Given the description of an element on the screen output the (x, y) to click on. 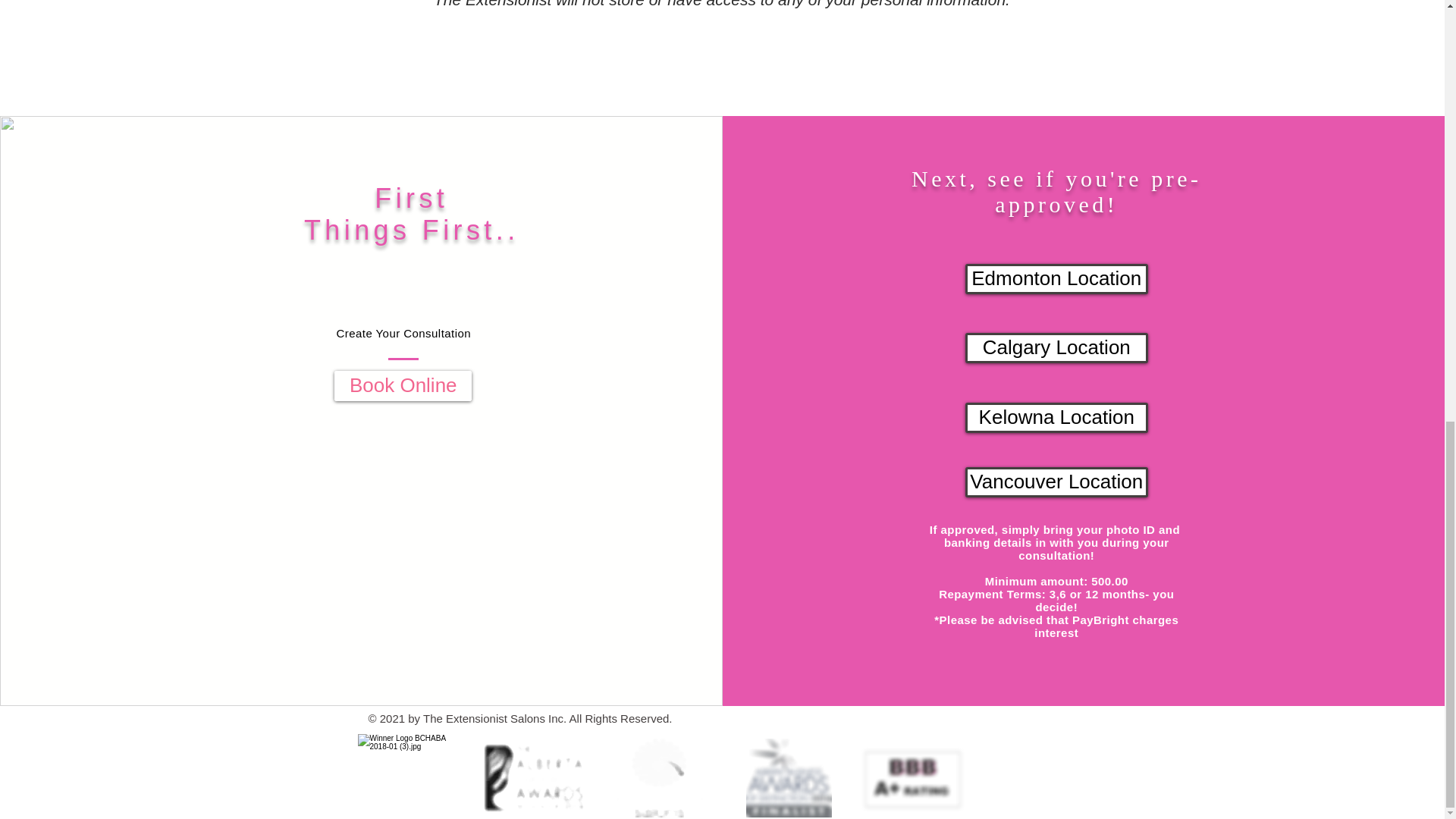
IAO.jpg (412, 774)
Calgary Location (1056, 347)
Vancouver Location (1056, 481)
Kelowna Location (1056, 417)
Book Online (402, 386)
GCS Logo Vertical.jpg (660, 776)
ABAD 2016 Finalist Logo HIGH.png (788, 776)
Edmonton Location (1056, 277)
GCS Logo Vertical.jpg (536, 776)
